Given the description of an element on the screen output the (x, y) to click on. 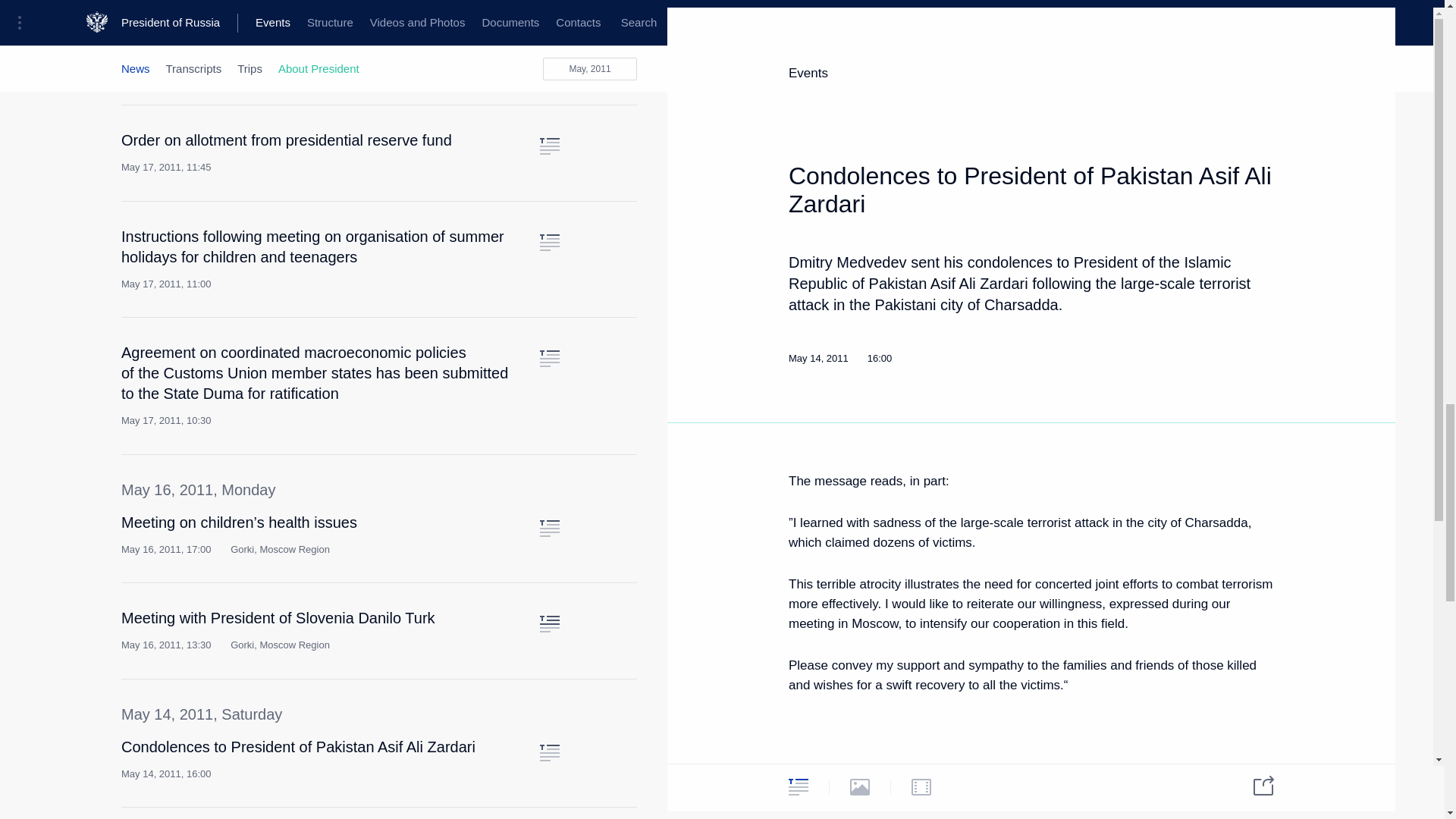
Text of the article (549, 30)
Text of the article (549, 146)
Text of the article (549, 242)
